Given the description of an element on the screen output the (x, y) to click on. 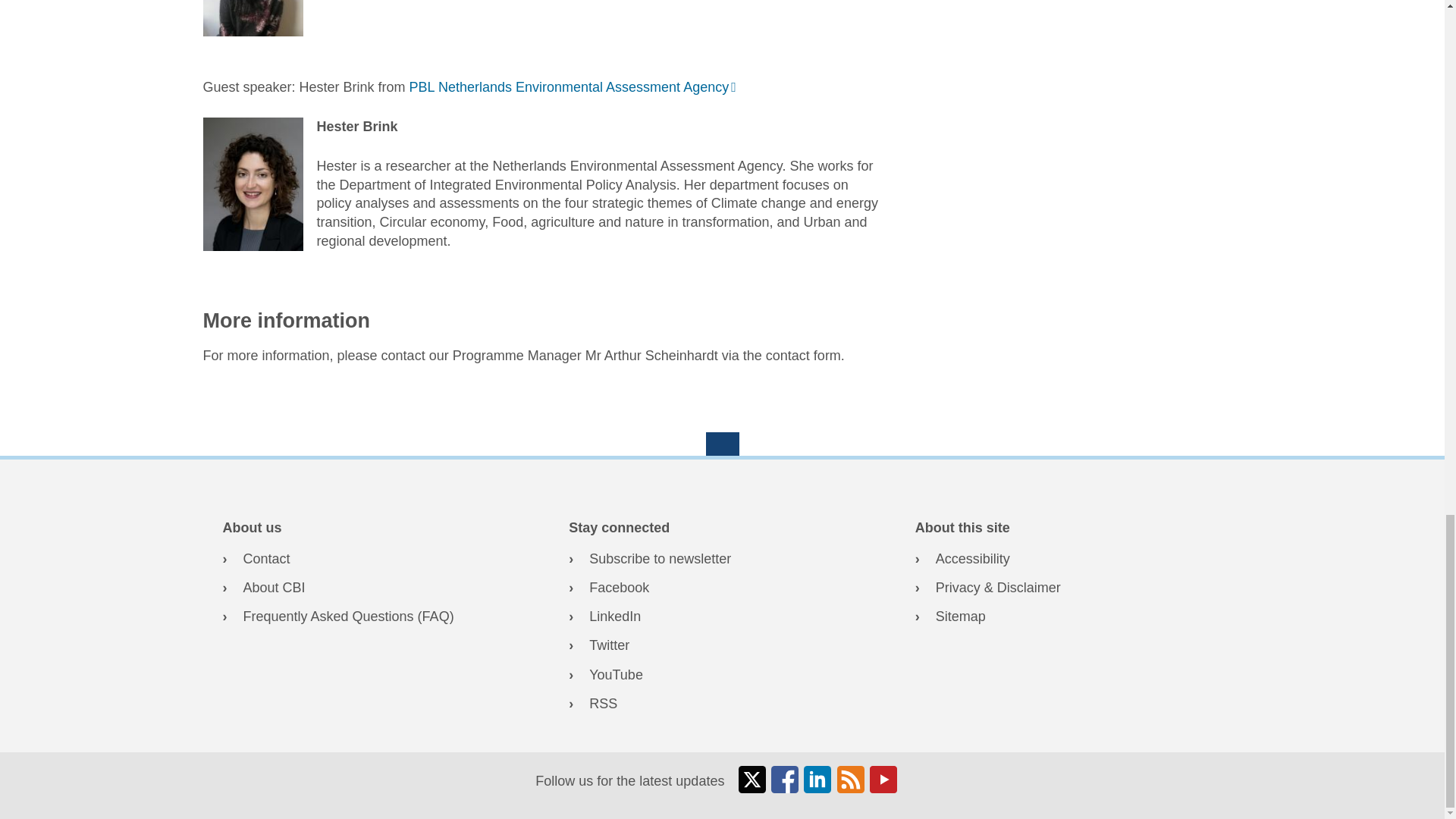
Facebook (722, 587)
Go to CBI's YouTube channel (722, 674)
PBL Netherlands Environmental Assessment Agency (572, 87)
LinkedIn (722, 616)
Go to CBI's Facebook channel (722, 587)
Subscribe to newsletter (722, 558)
About CBI (375, 587)
Go to CBI's Twitter channel (722, 645)
Contact (375, 558)
Go to CBI's LinkedIn channel (722, 616)
